Given the description of an element on the screen output the (x, y) to click on. 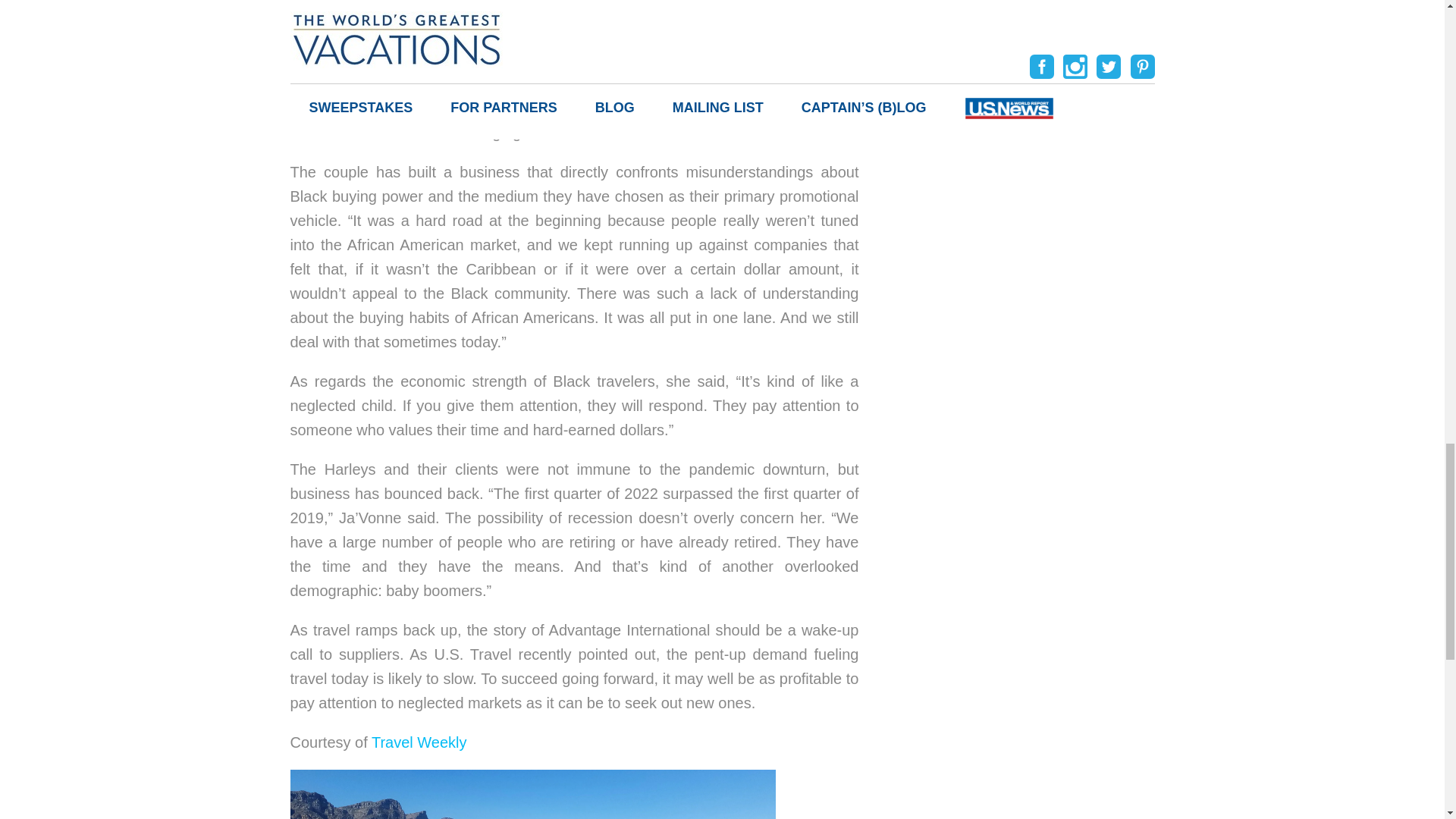
Travel Weekly (419, 742)
